Given the description of an element on the screen output the (x, y) to click on. 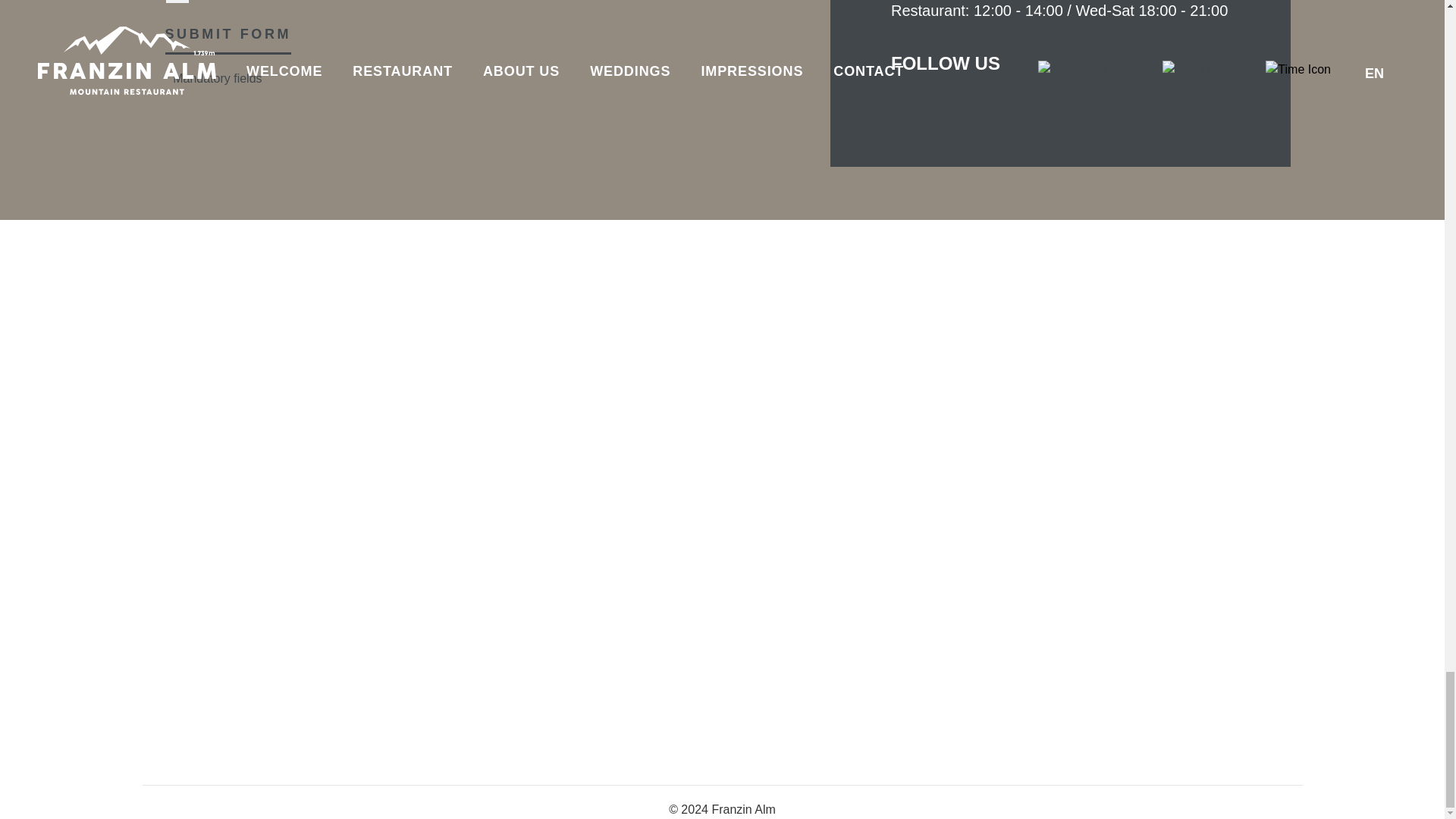
Submit form (228, 39)
